Given the description of an element on the screen output the (x, y) to click on. 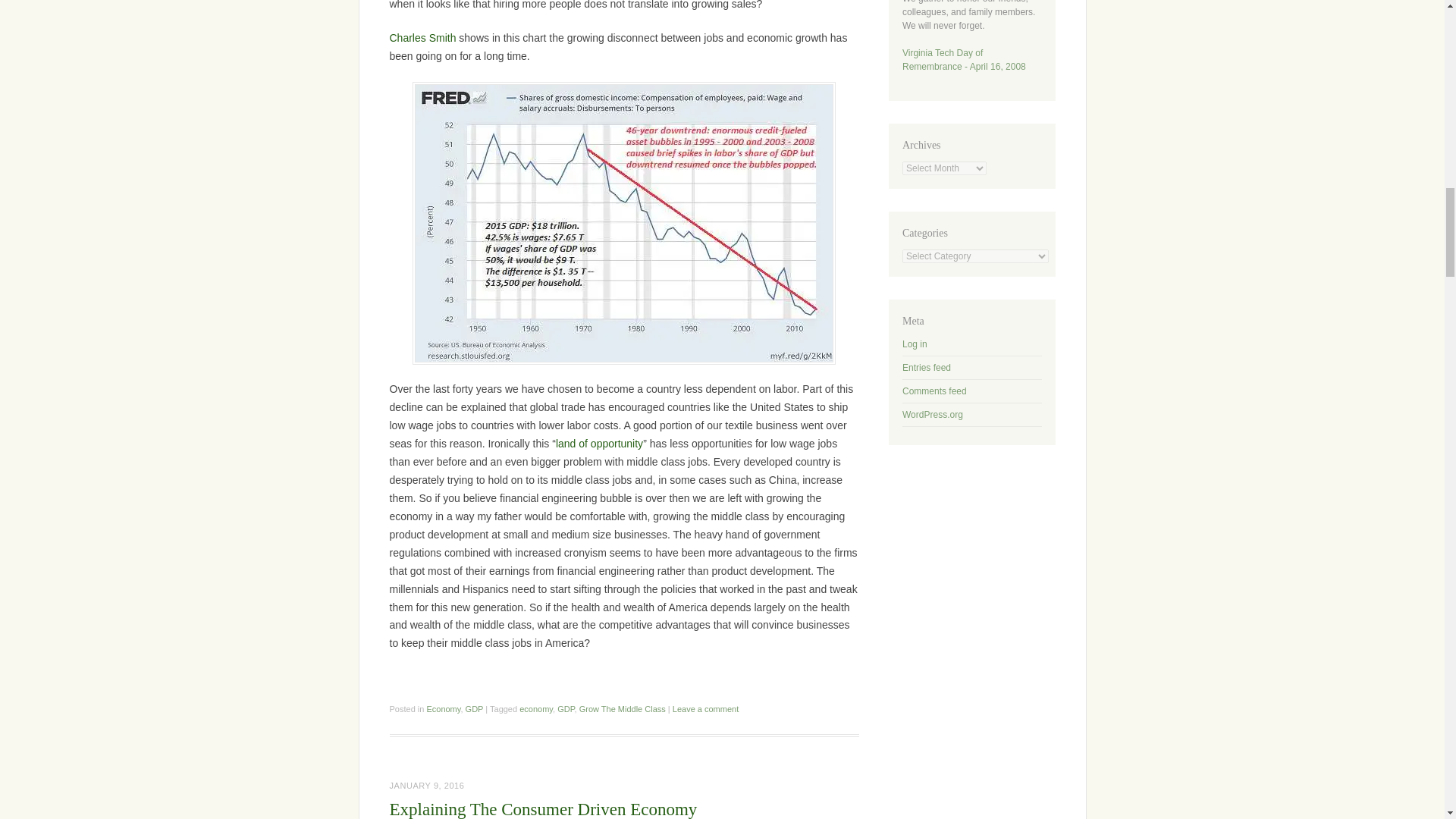
GDP (565, 708)
Explaining The Consumer Driven Economy (543, 809)
JANUARY 9, 2016 (427, 785)
10:25 am (427, 785)
Leave a comment (705, 708)
economy (536, 708)
Grow The Middle Class (622, 708)
land of opportunity (599, 443)
Economy (443, 708)
Charles Smith (423, 37)
GDP (474, 708)
